Given the description of an element on the screen output the (x, y) to click on. 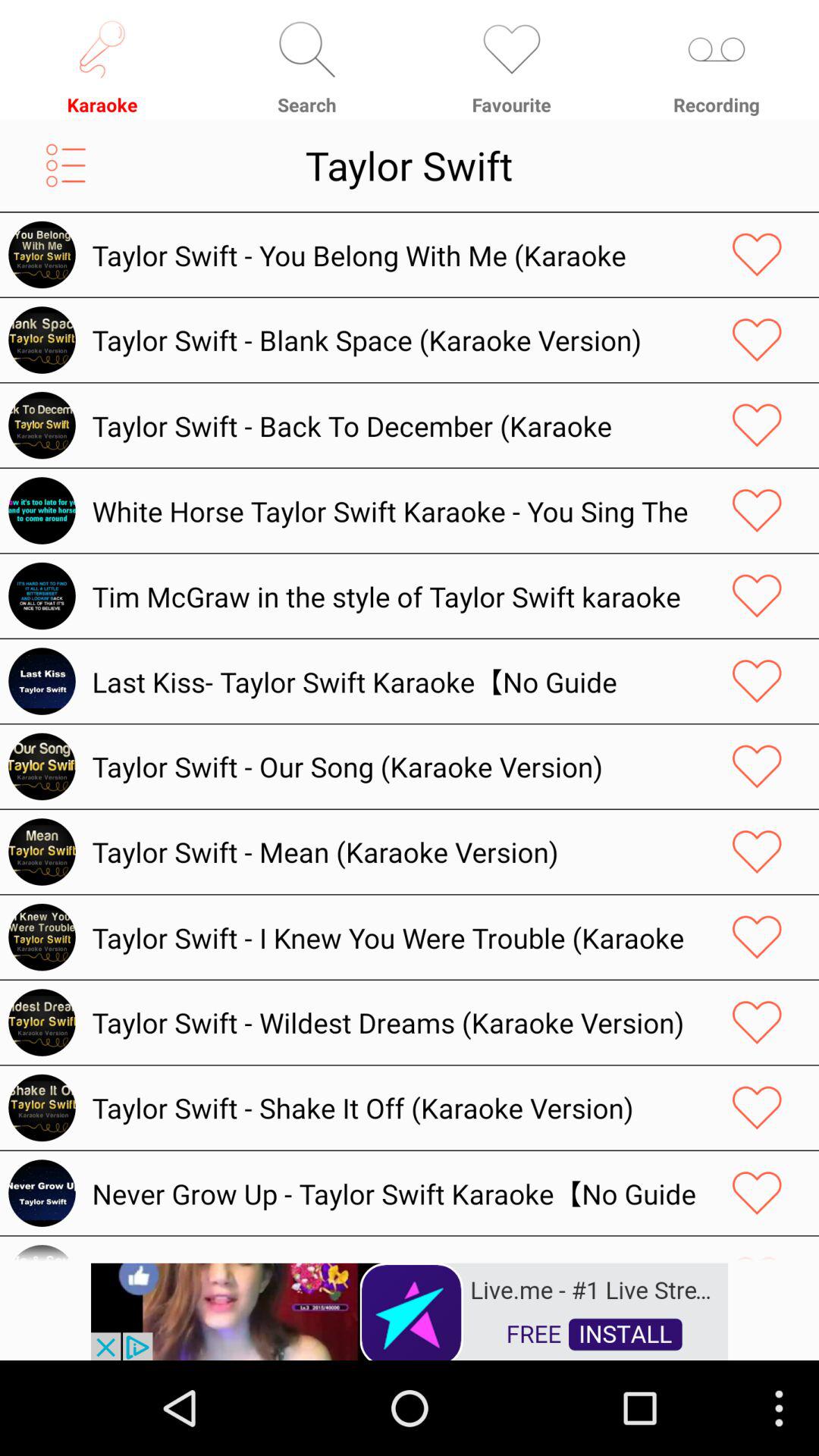
try this app (409, 1310)
